Given the description of an element on the screen output the (x, y) to click on. 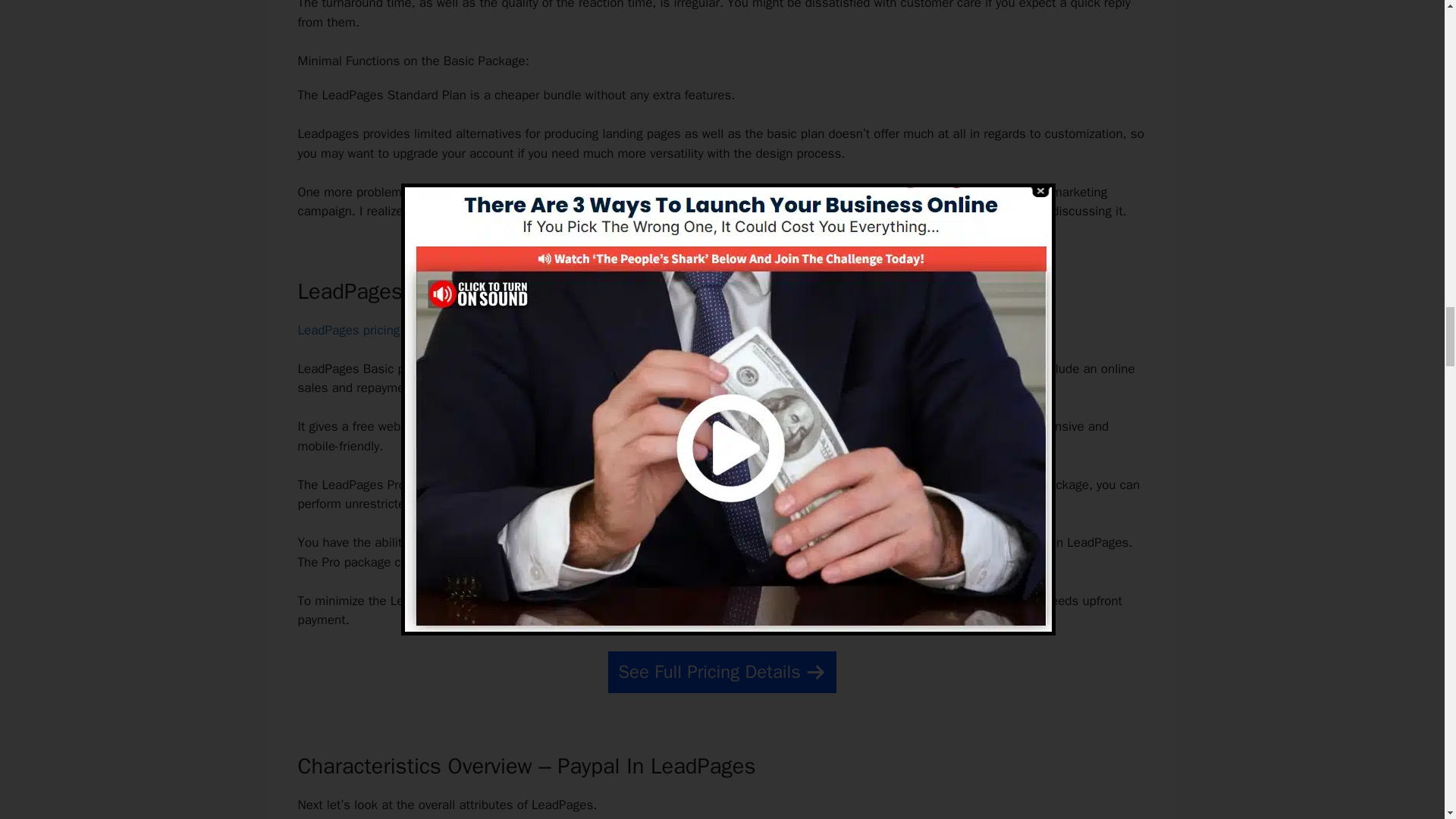
See Full Pricing Details (721, 671)
LeadPages pricing (347, 330)
